Given the description of an element on the screen output the (x, y) to click on. 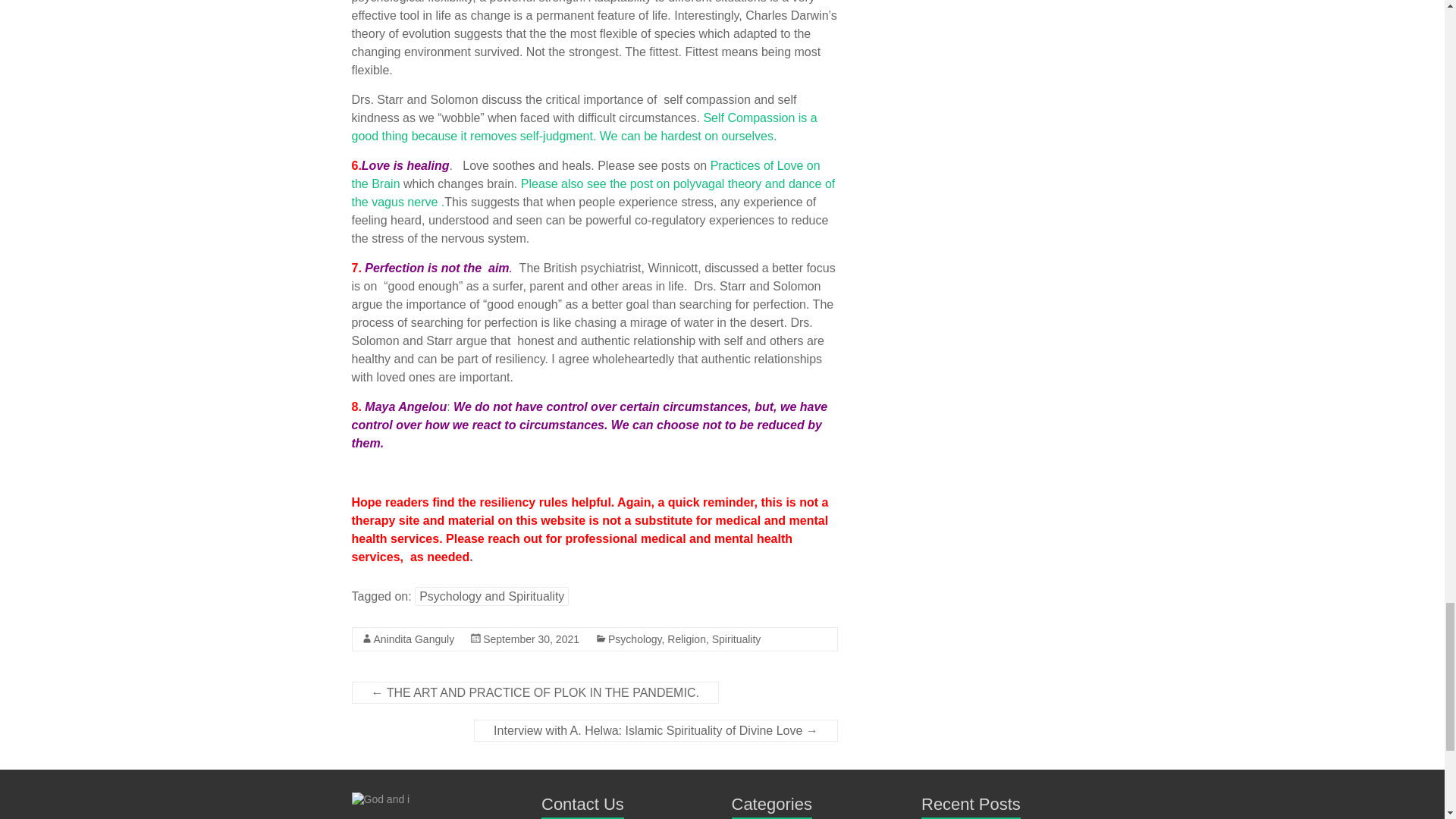
Psychology and Spirituality (491, 596)
Spirituality (736, 639)
September 30, 2021 (531, 639)
8:55 pm (531, 639)
Practices of Love on the Brain (586, 174)
Psychology (635, 639)
Religion (686, 639)
Anindita Ganguly (413, 639)
